Given the description of an element on the screen output the (x, y) to click on. 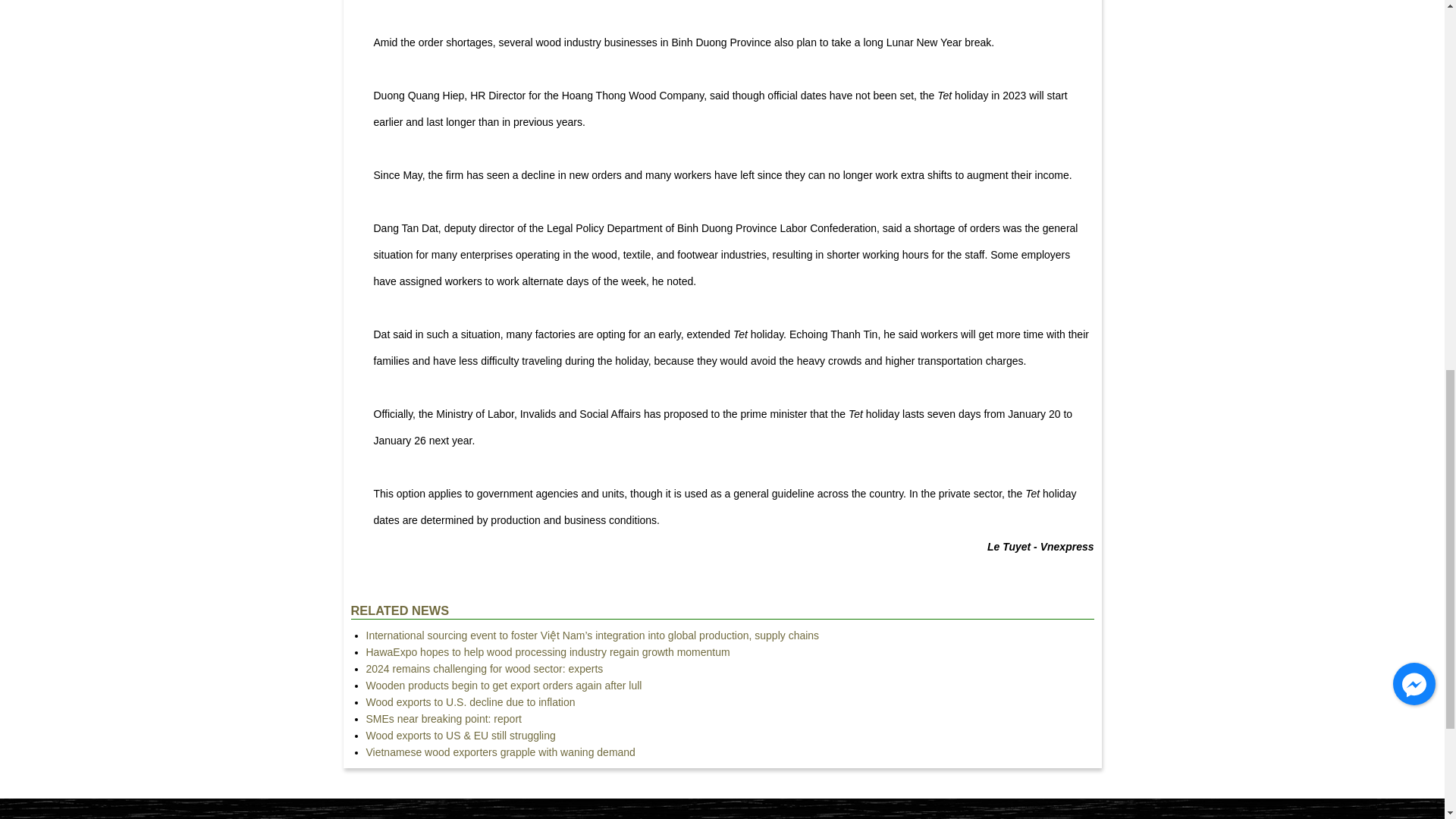
SMEs near breaking point: report (443, 718)
2024 remains challenging for wood sector: experts (483, 668)
Wood exports to U.S. decline due to inflation (470, 702)
Vietnamese wood exporters grapple with waning demand (499, 752)
Wooden products begin to get export orders again after lull (503, 685)
